Given the description of an element on the screen output the (x, y) to click on. 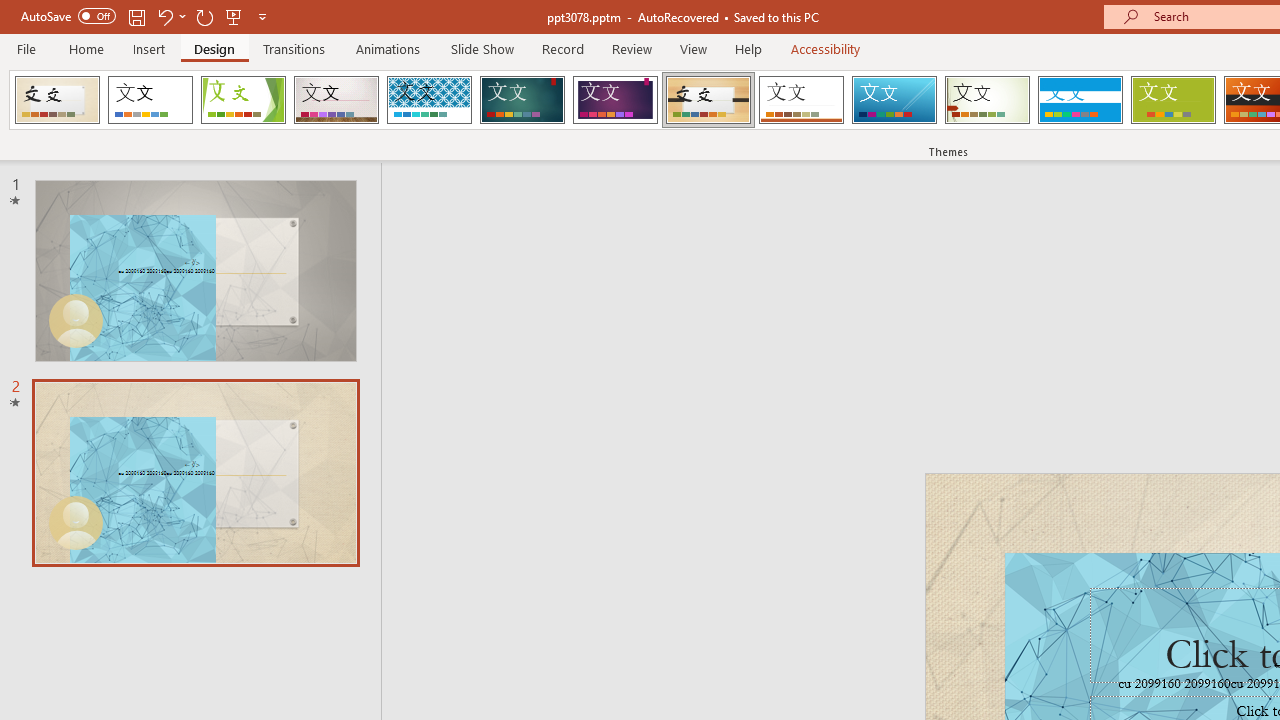
Organic (708, 100)
Ion (522, 100)
Ion Boardroom (615, 100)
Integral (429, 100)
Retrospect (801, 100)
